Given the description of an element on the screen output the (x, y) to click on. 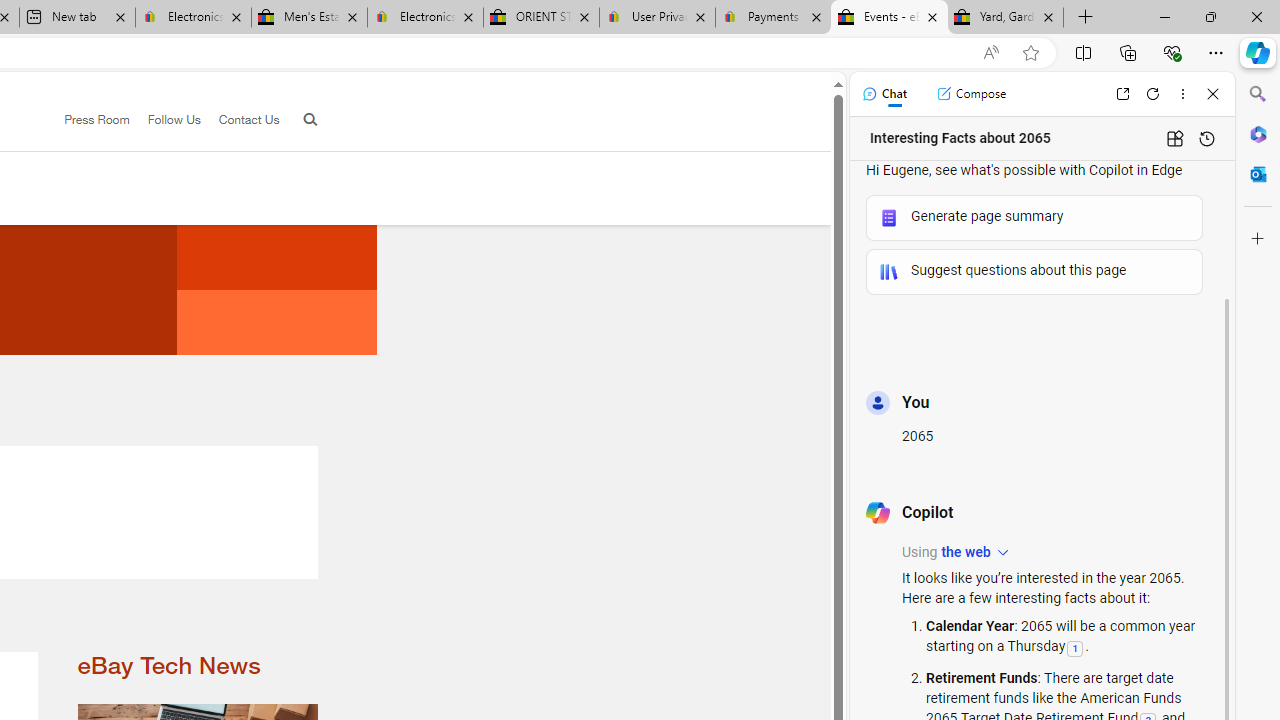
Contact Us (248, 119)
Yard, Garden & Outdoor Living (1005, 17)
User Privacy Notice | eBay (657, 17)
Follow Us (173, 119)
